Given the description of an element on the screen output the (x, y) to click on. 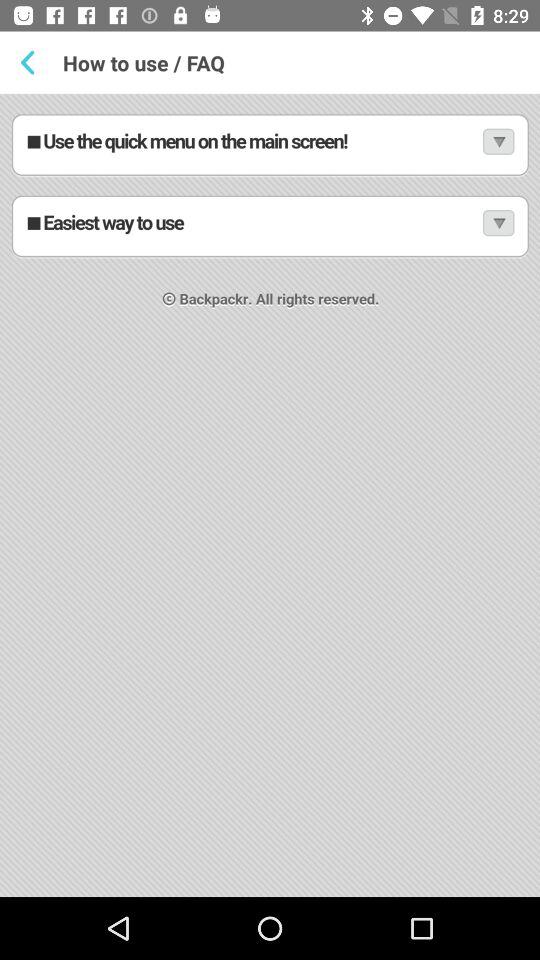
screen page (270, 495)
